Given the description of an element on the screen output the (x, y) to click on. 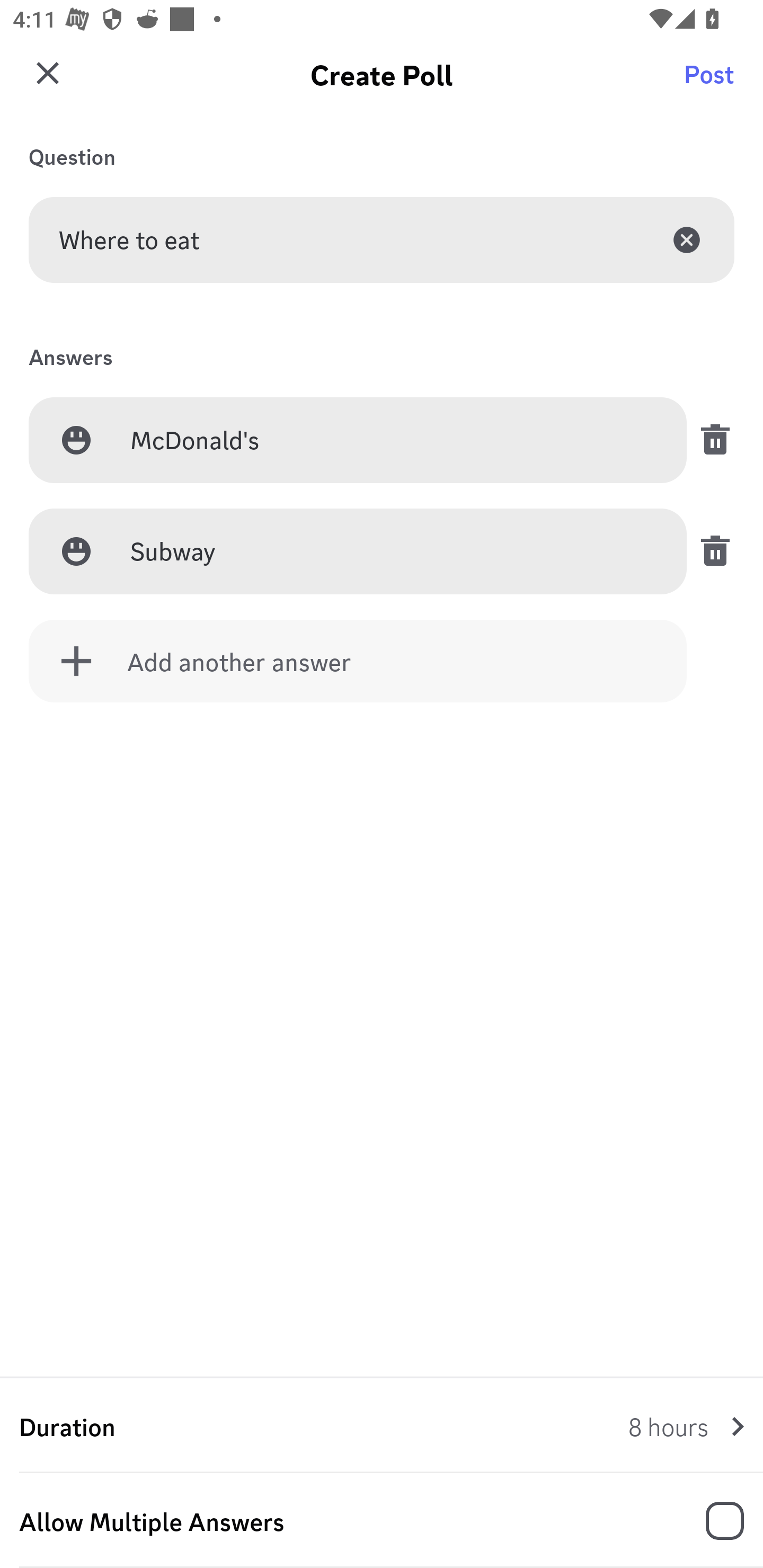
general (channel) general general (channel) (387, 82)
Back (44, 82)
Search (711, 82)
Where to eat Question (381, 239)
Clear (686, 239)
Add media, answer 1 (75, 439)
Remove answer 1 (710, 439)
McDonald's Answer 1 (393, 440)
Add media, answer 2 (75, 550)
Remove answer 2 (710, 550)
Subway Answer 2 (393, 551)
Add another answer (357, 660)
Duration 8 hours Duration 8 hours (381, 1425)
Allow Multiple Answers,  Allow Multiple Answers (381, 1520)
Record Voice Message (711, 1522)
